Given the description of an element on the screen output the (x, y) to click on. 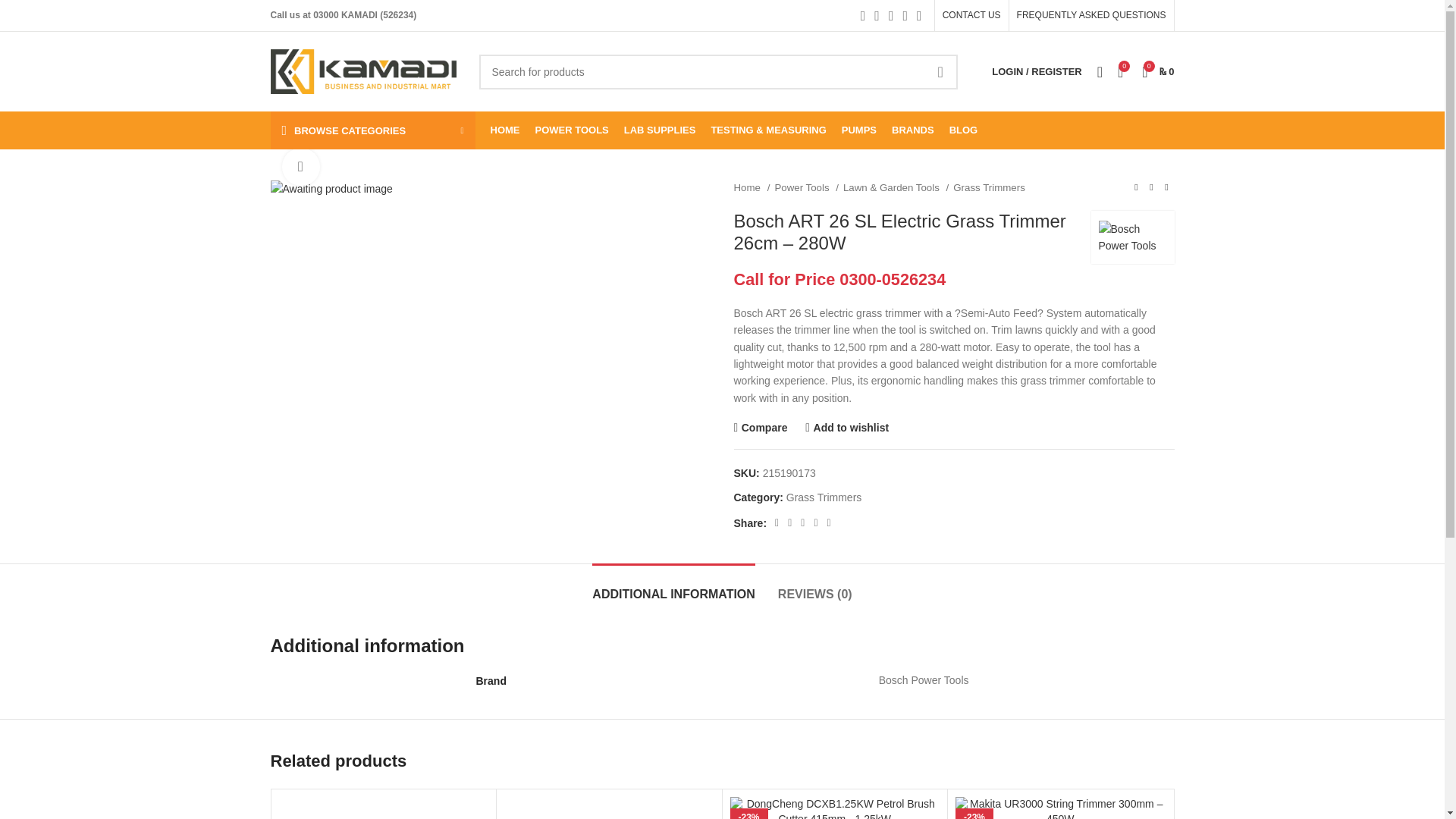
SEARCH (940, 71)
CONTACT US (971, 15)
Shopping cart (1157, 71)
Search for products (718, 71)
FREQUENTLY ASKED QUESTIONS (1091, 15)
My account (1036, 71)
Bosch Power Tools (1131, 237)
